Given the description of an element on the screen output the (x, y) to click on. 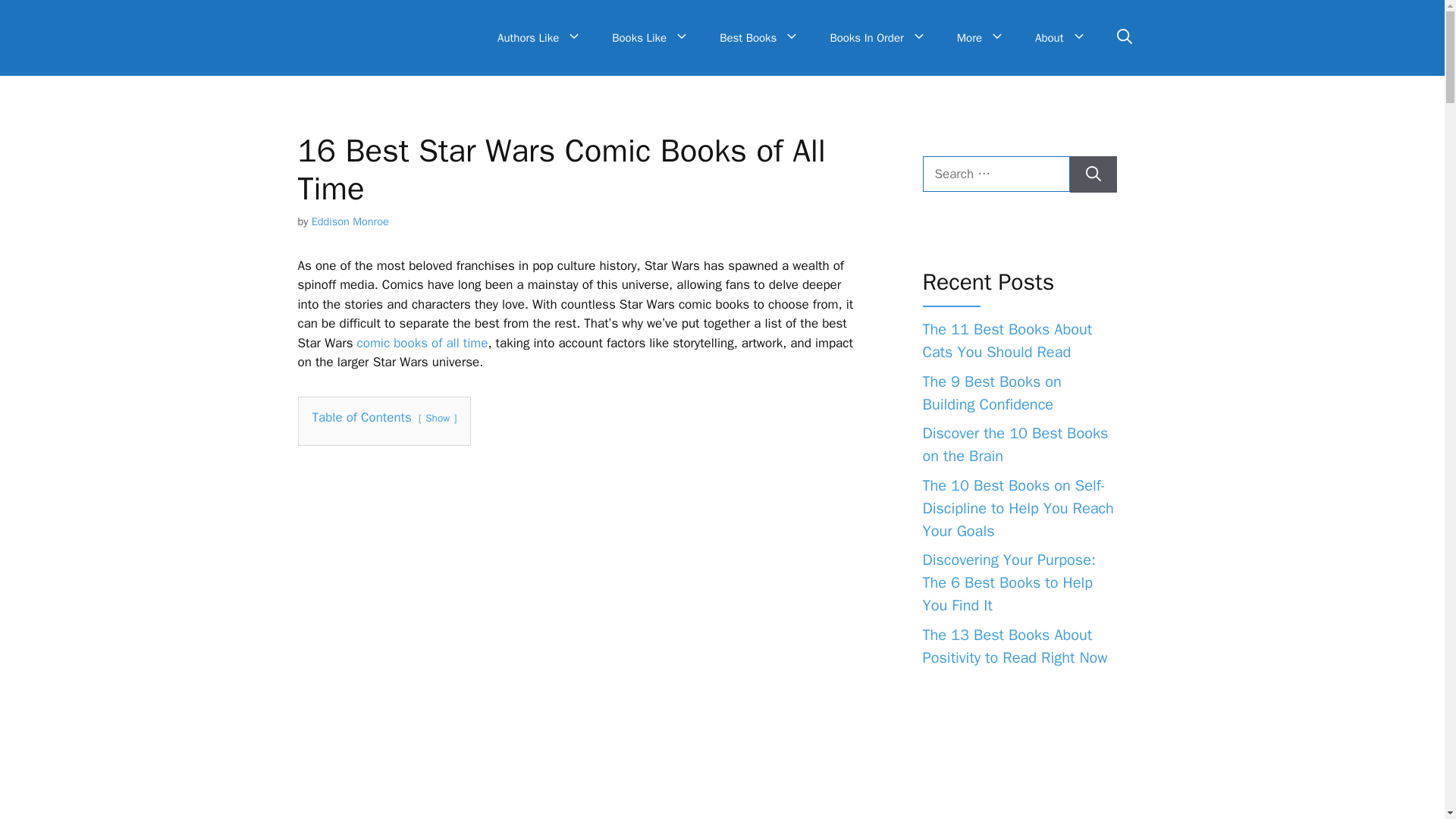
Best Books (758, 37)
View all posts by Eddison Monroe (349, 221)
Discover the 9 Best Lesbian Comic Books of All Time (421, 342)
Books Like (650, 37)
Authors Like (538, 37)
